Given the description of an element on the screen output the (x, y) to click on. 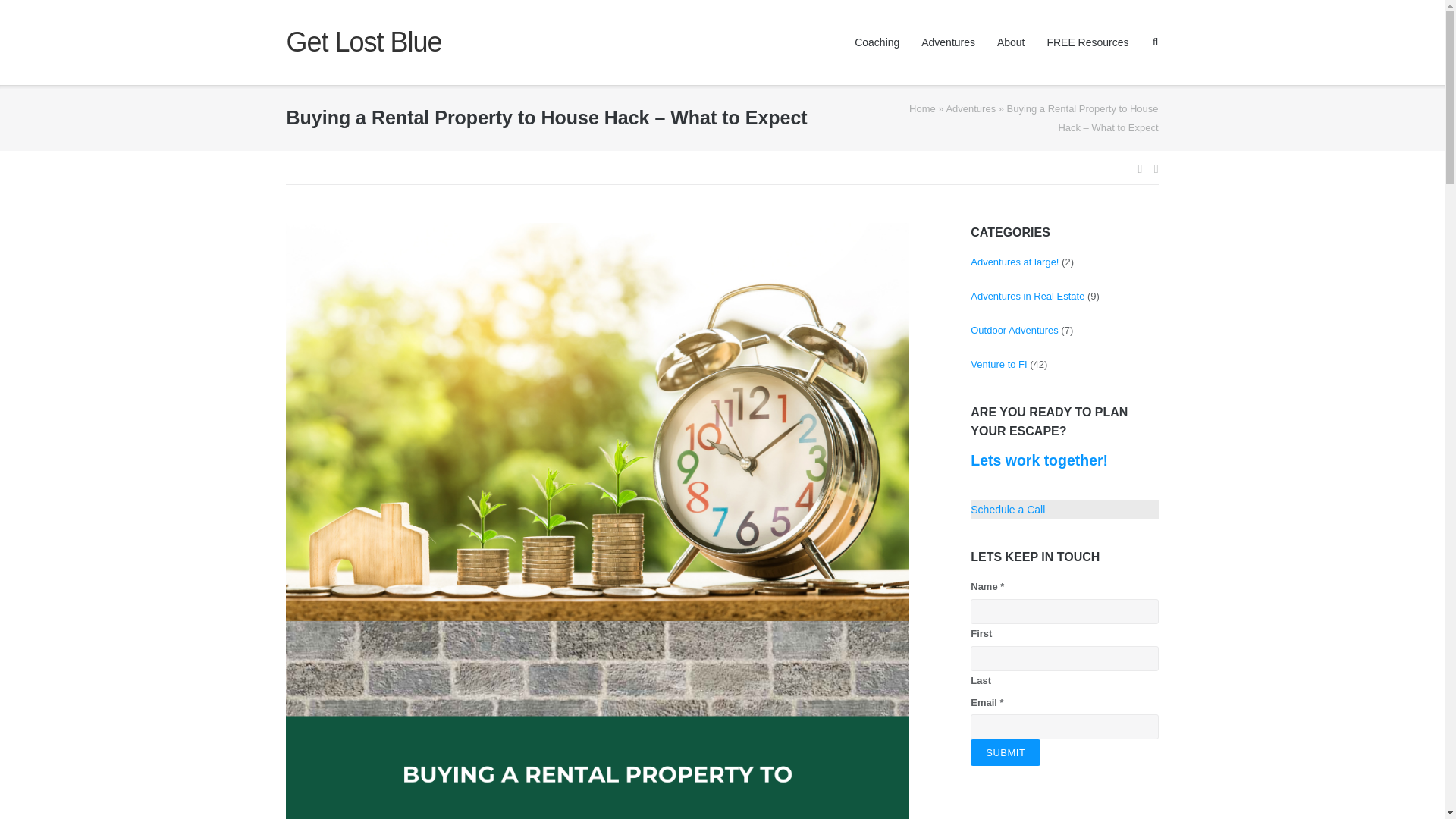
Venture to FI (998, 364)
Lets work together! (1039, 460)
Adventures (969, 108)
Get Lost Blue (363, 42)
Adventures in Real Estate (1027, 296)
FREE Resources (1087, 42)
Home (922, 108)
Outdoor Adventures (1014, 329)
Schedule a Call (1008, 509)
SUBMIT (1006, 752)
